Given the description of an element on the screen output the (x, y) to click on. 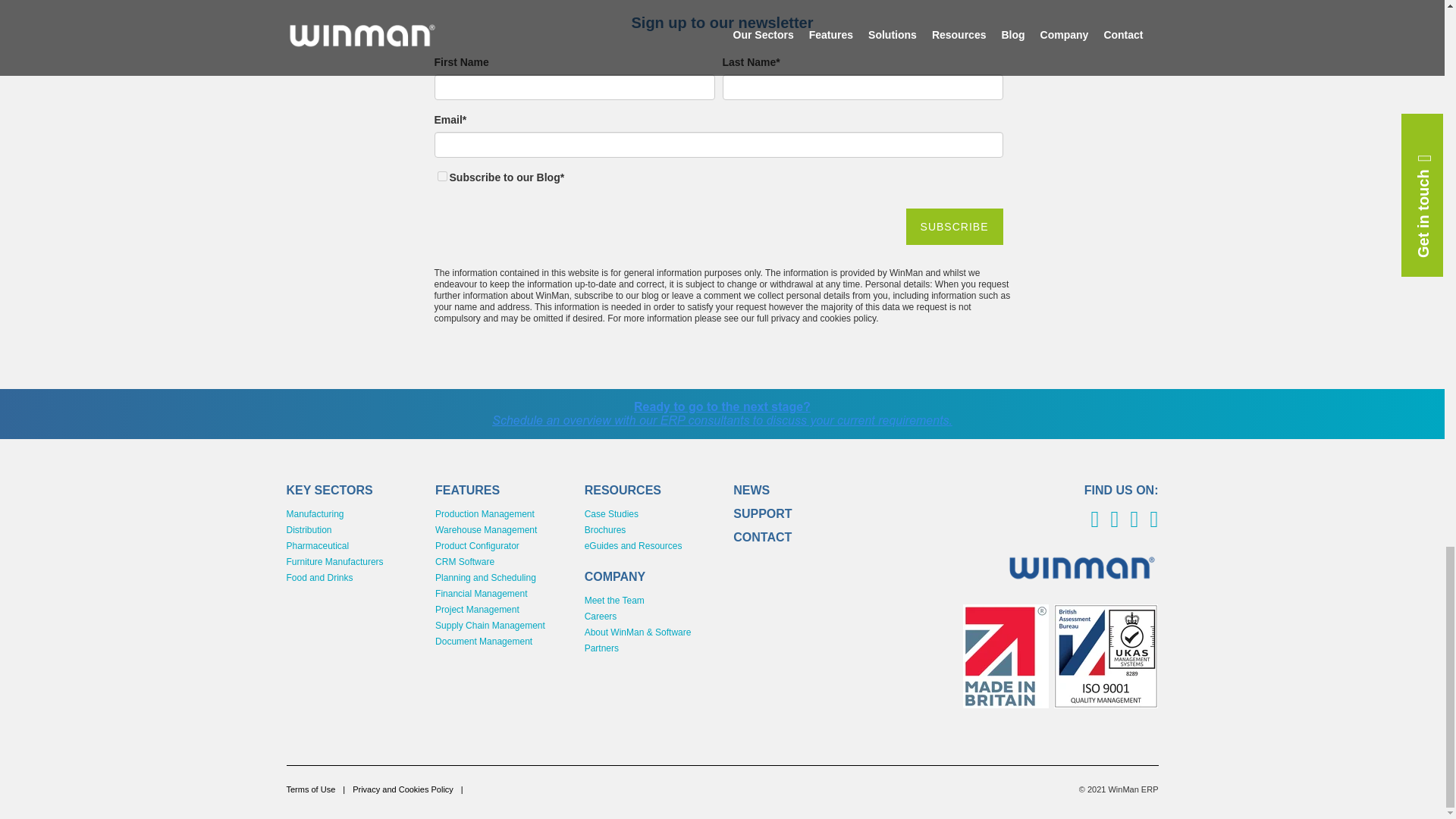
Subscribe (954, 226)
true (441, 175)
